Given the description of an element on the screen output the (x, y) to click on. 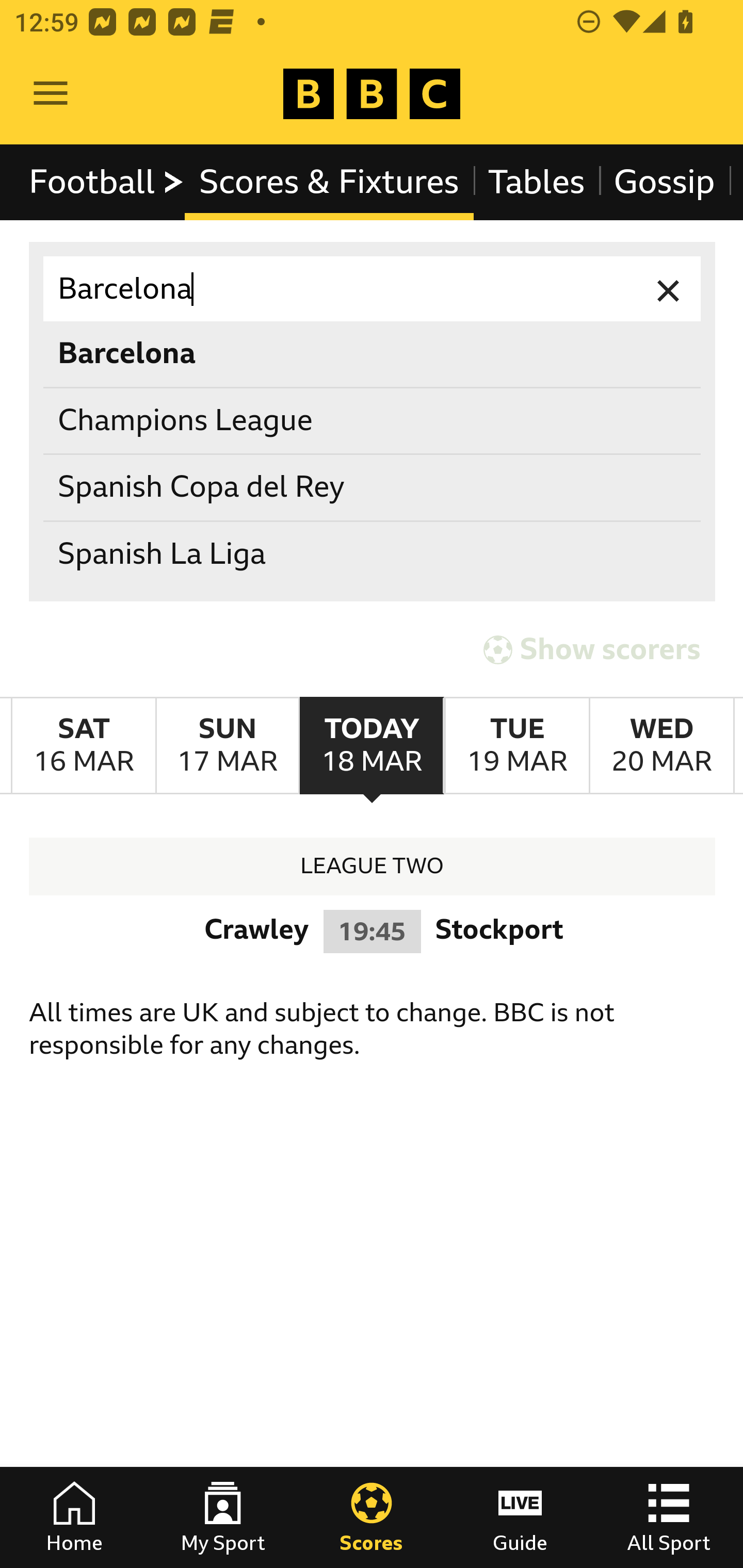
Open Menu (50, 93)
Football  (106, 181)
Scores & Fixtures (329, 181)
Tables (536, 181)
Gossip (664, 181)
Barcelona (372, 289)
Clear input (669, 289)
Champions League (372, 419)
Spanish Copa del Rey (372, 488)
Spanish La Liga (372, 554)
Show scorers (591, 647)
SaturdayMarch 16th Saturday March 16th (83, 745)
SundayMarch 17th Sunday March 17th (227, 745)
TuesdayMarch 19th Tuesday March 19th (516, 745)
WednesdayMarch 20th Wednesday March 20th (661, 745)
Home (74, 1517)
My Sport (222, 1517)
Guide (519, 1517)
All Sport (668, 1517)
